Given the description of an element on the screen output the (x, y) to click on. 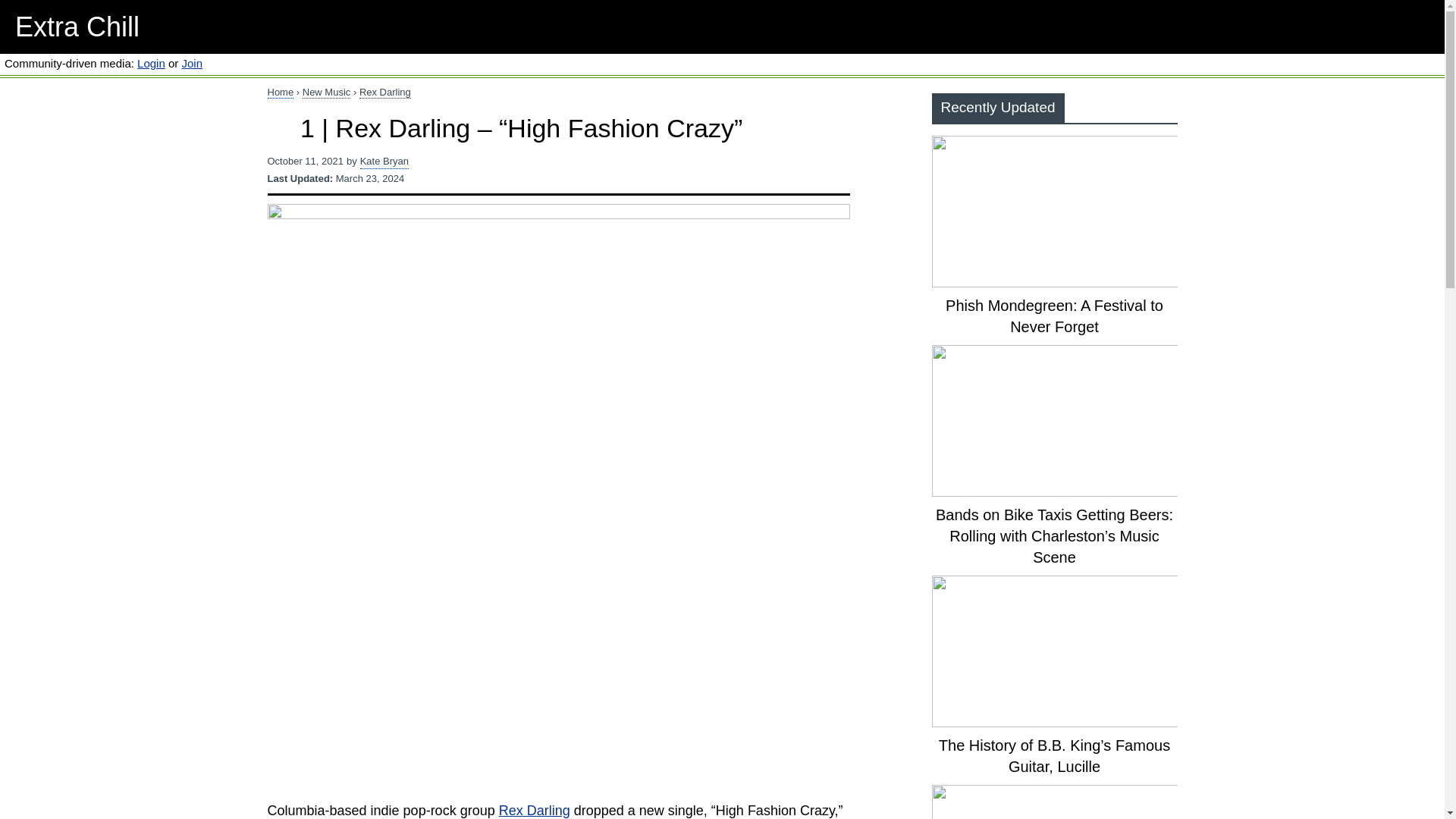
Home (280, 92)
Posts by Kate Bryan (384, 161)
Kate Bryan (384, 161)
Join (191, 62)
Rex Darling (384, 92)
New Music (326, 92)
Rex Darling (534, 810)
Login (150, 62)
Extra Chill (76, 27)
